Given the description of an element on the screen output the (x, y) to click on. 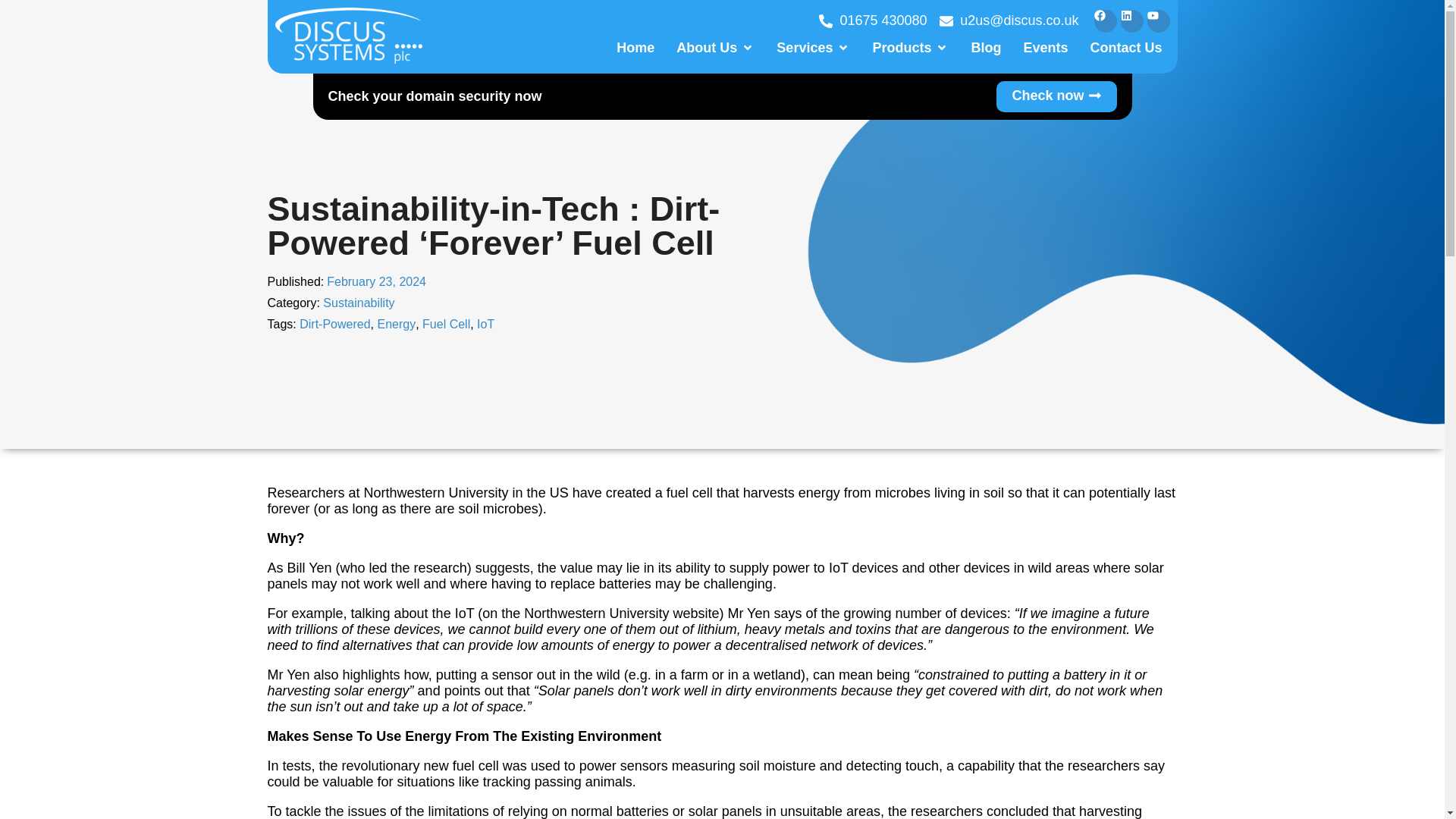
01675 430080 (872, 20)
Products (901, 48)
Home (634, 48)
About Us (706, 48)
Services (804, 48)
